Given the description of an element on the screen output the (x, y) to click on. 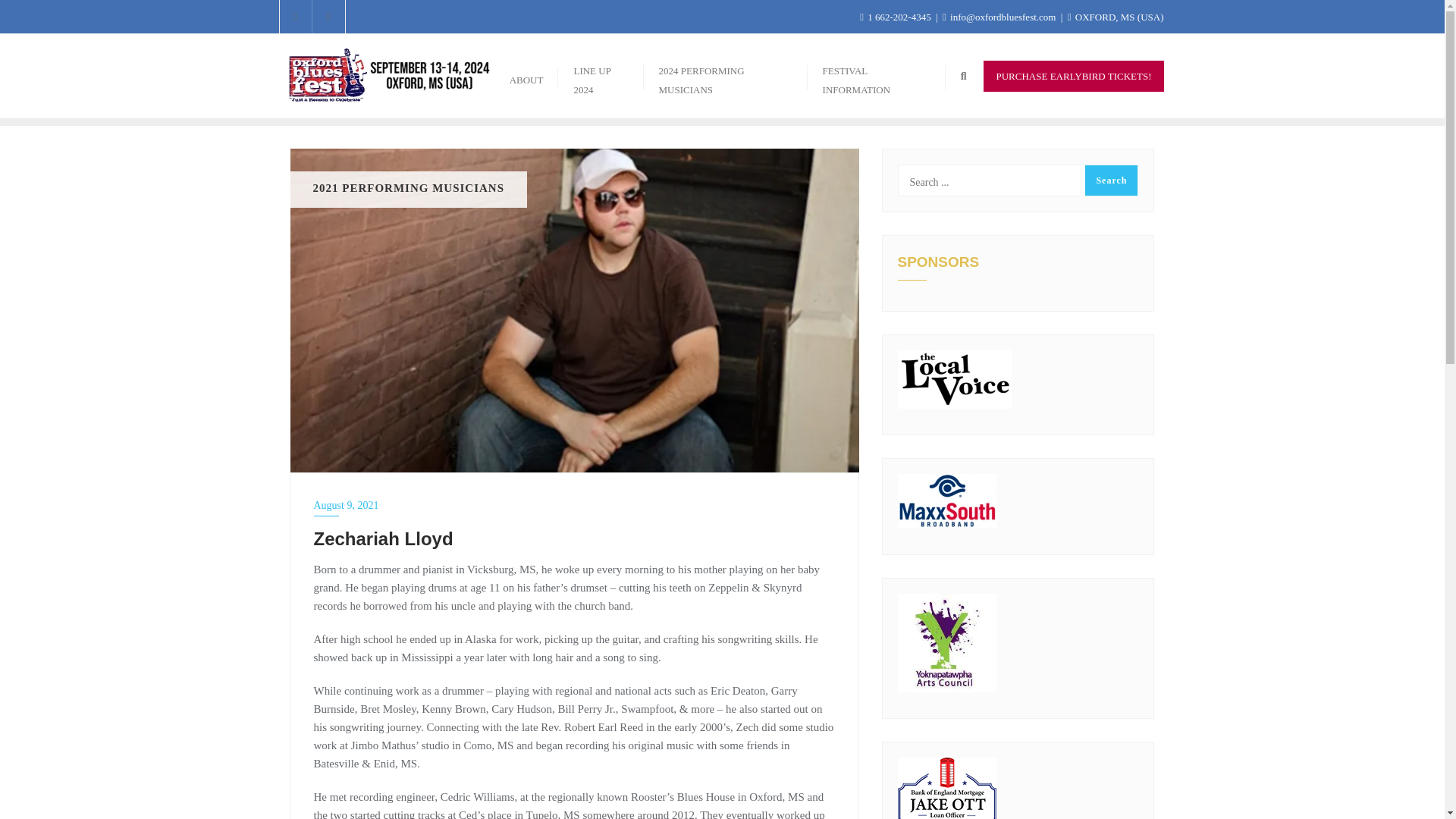
Search (1110, 180)
LINE UP 2024 (600, 76)
FESTIVAL INFORMATION (876, 76)
August 9, 2021 (574, 505)
PURCHASE EARLYBIRD TICKETS! (1073, 76)
Search (1110, 180)
2024 PERFORMING MUSICIANS (725, 76)
Search (1110, 180)
ABOUT (527, 75)
